Given the description of an element on the screen output the (x, y) to click on. 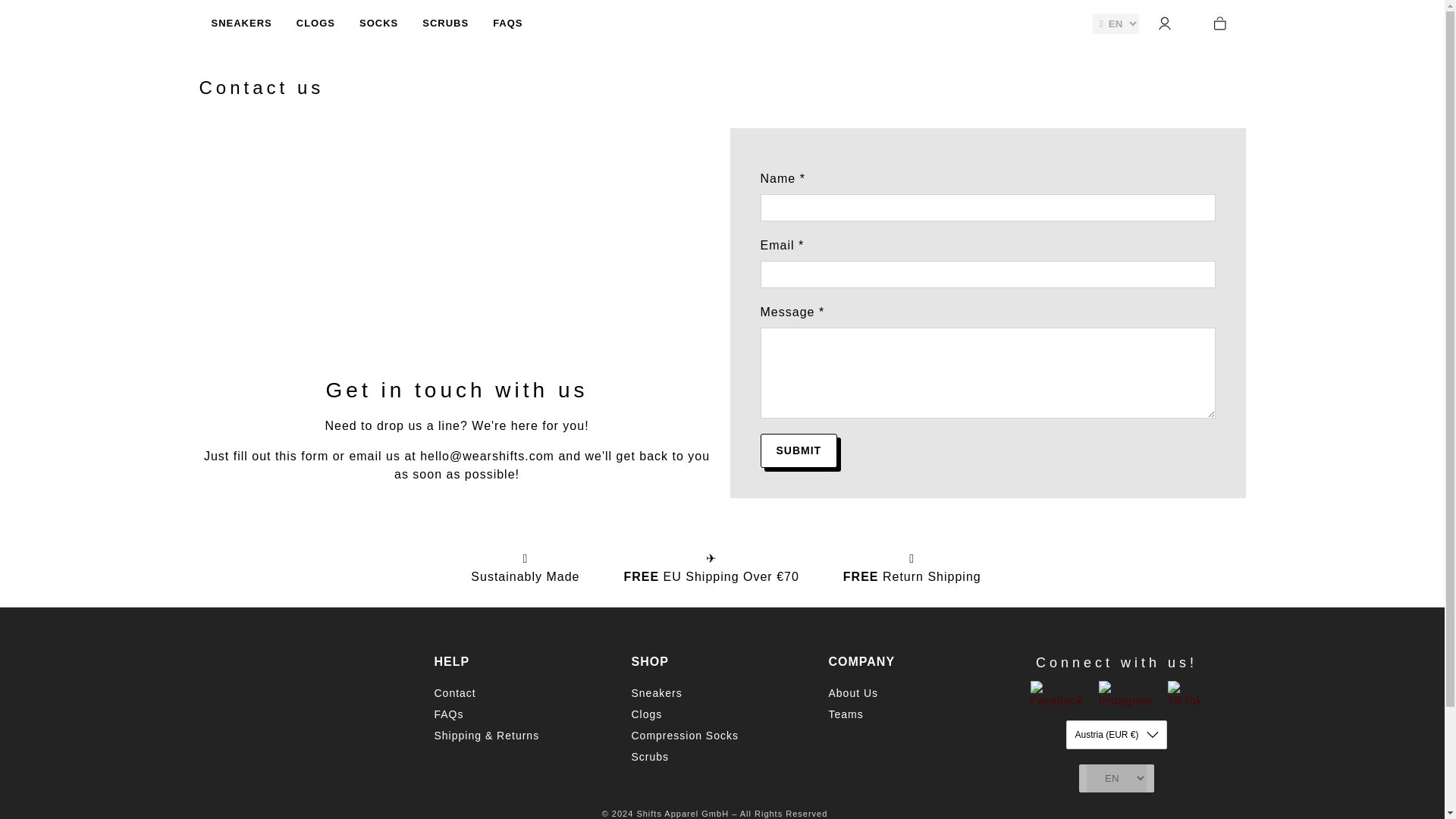
Shifts (290, 702)
SOCKS (378, 23)
CLOGS (315, 23)
Shifts (721, 23)
SNEAKERS (240, 23)
SCRUBS (445, 23)
FAQS (507, 23)
